Given the description of an element on the screen output the (x, y) to click on. 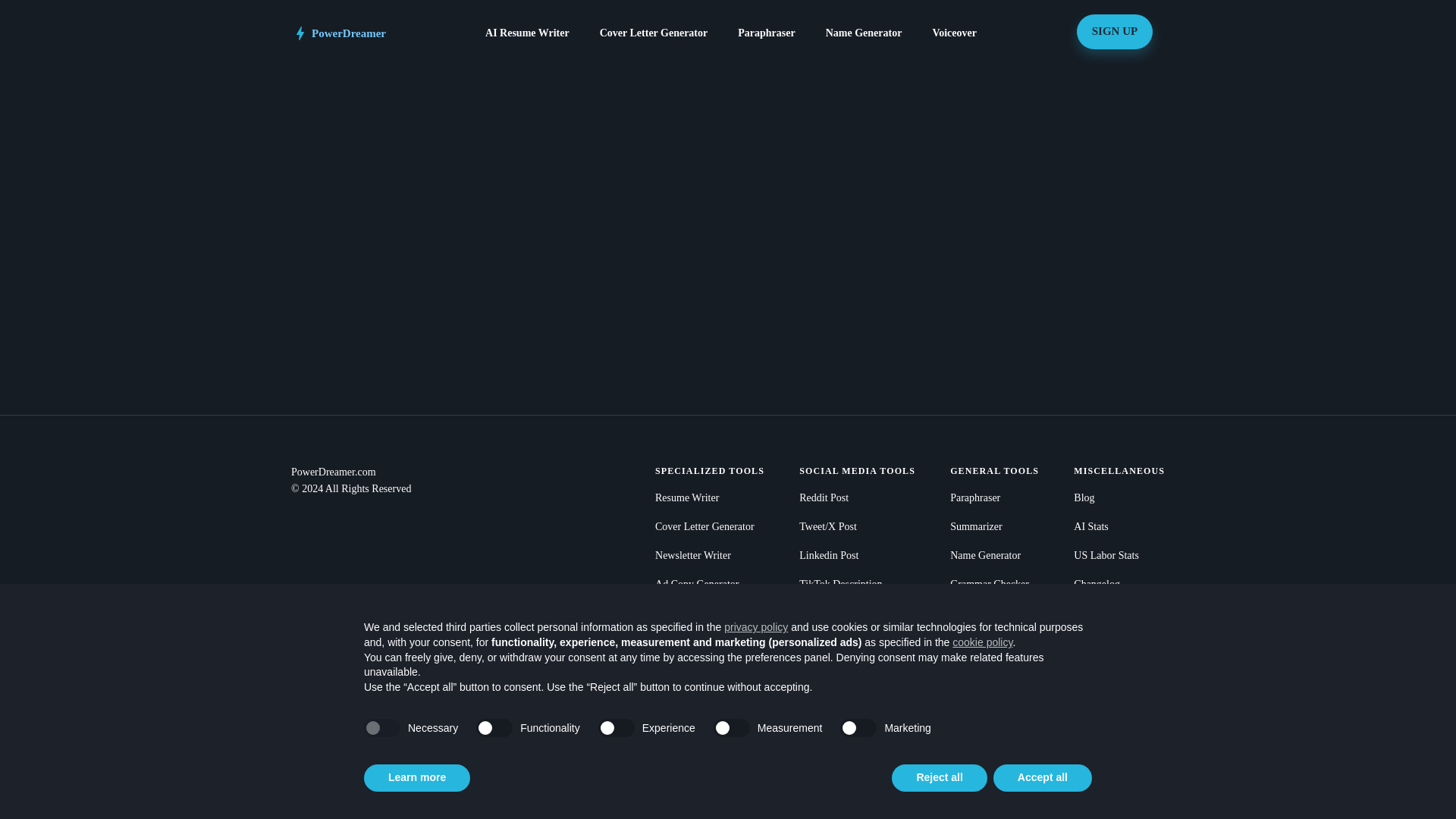
Name Generator (994, 555)
Changelog (1119, 584)
SEO Writer (709, 613)
Billing (1119, 641)
Linkedin Post (857, 555)
Summarizer (994, 526)
Email (1119, 728)
Icons by Icons8 (1119, 613)
Resume Writer (709, 497)
Paraphraser (994, 497)
Privacy Policy (1119, 699)
YouTube Description (857, 613)
Cover Letter Generator (709, 526)
Ad Copy Generator (709, 584)
US Labor Stats (1119, 555)
